Given the description of an element on the screen output the (x, y) to click on. 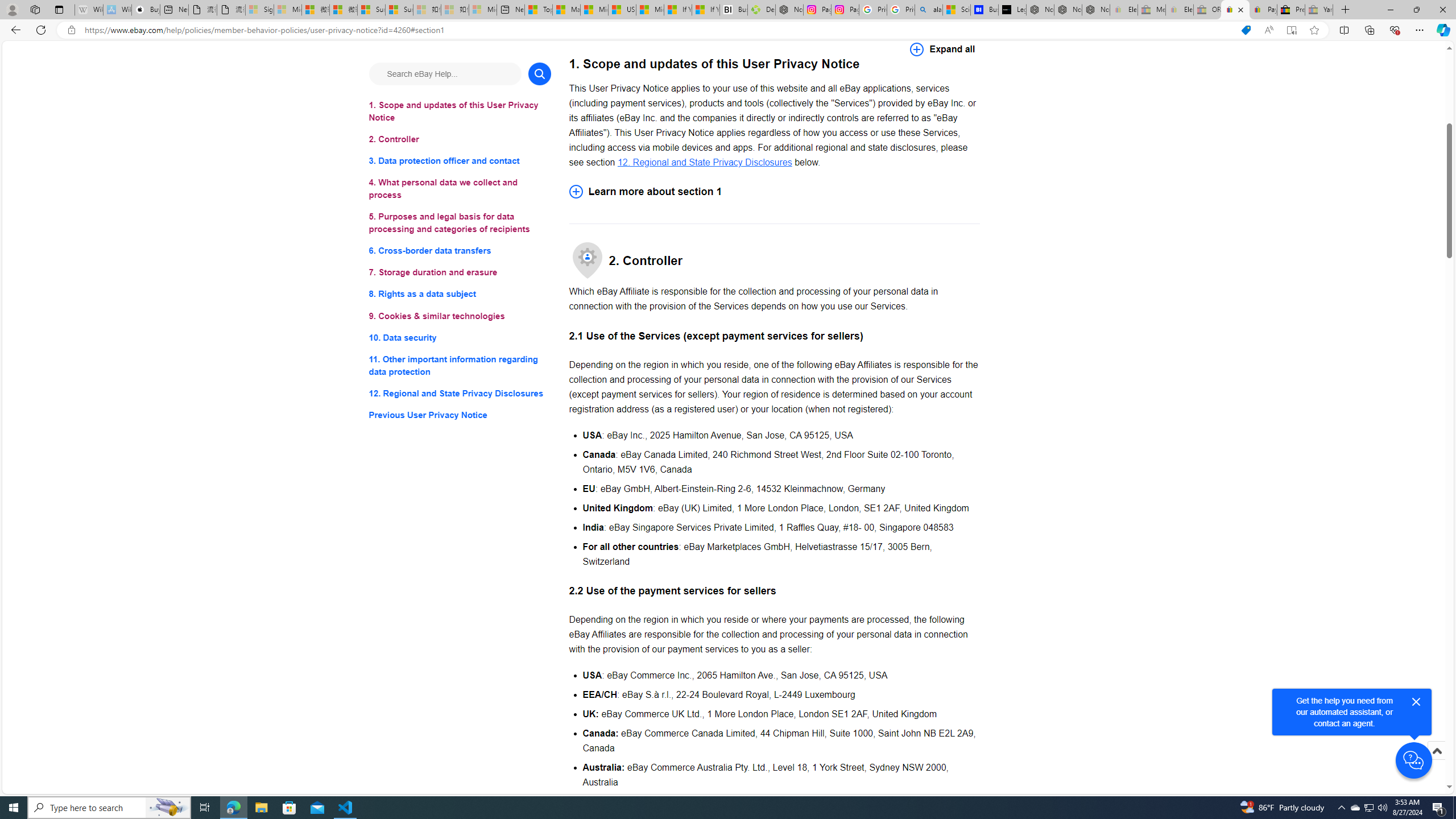
12. Regional and State Privacy Disclosures (459, 392)
2. Controller (459, 138)
4. What personal data we collect and process (459, 189)
